Given the description of an element on the screen output the (x, y) to click on. 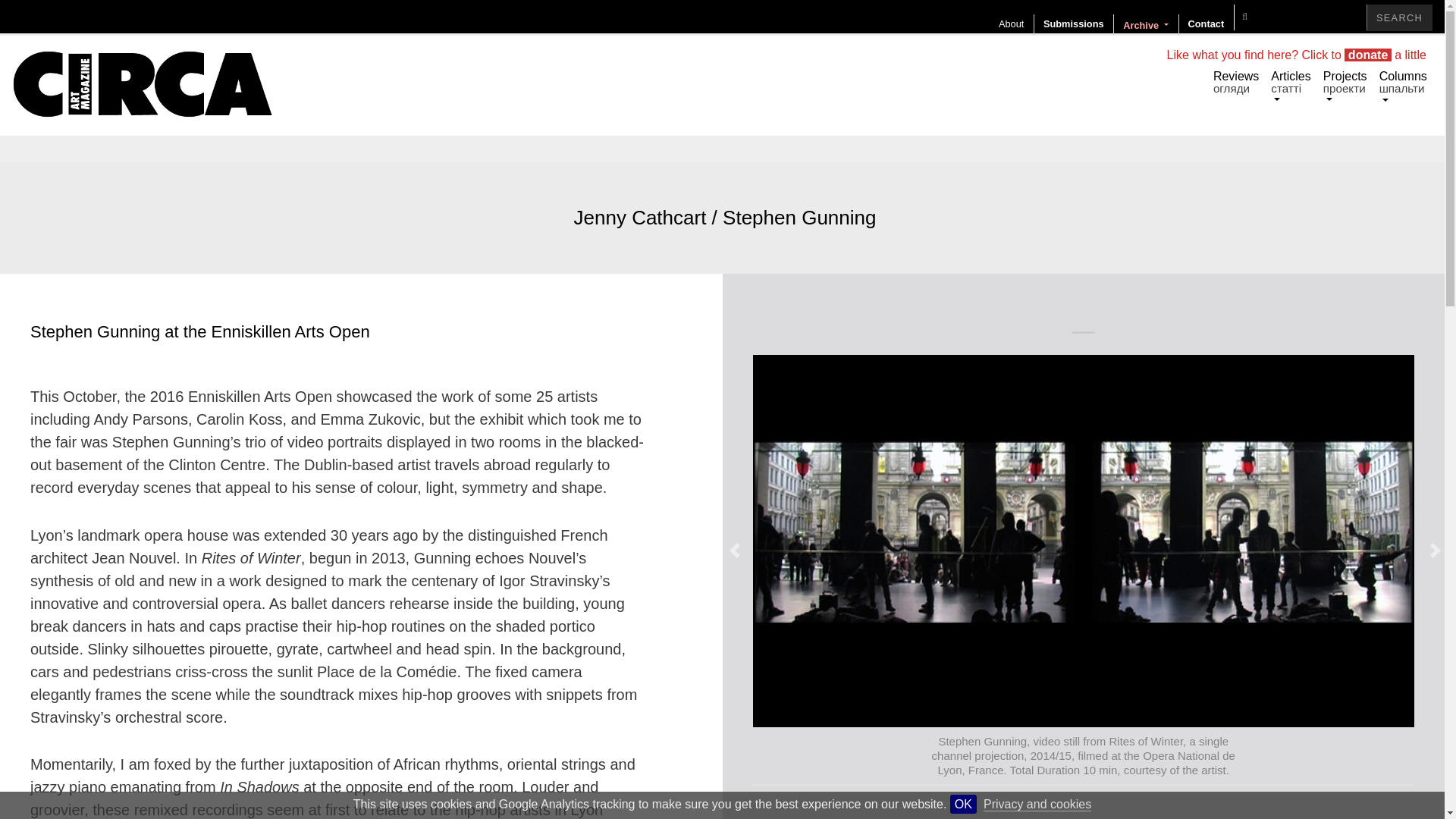
Reviews (1236, 81)
Search (1399, 17)
Contact (1205, 23)
Circa Art Magazine (141, 85)
Articles (1290, 88)
Projects (1345, 88)
About (1010, 23)
OK (963, 804)
Like what you find here? Click to  donate  a little (1296, 54)
About (1010, 23)
Archive (1145, 24)
Contact (1205, 23)
Submissions (1073, 23)
Submissions (1073, 23)
Columns (1402, 88)
